Given the description of an element on the screen output the (x, y) to click on. 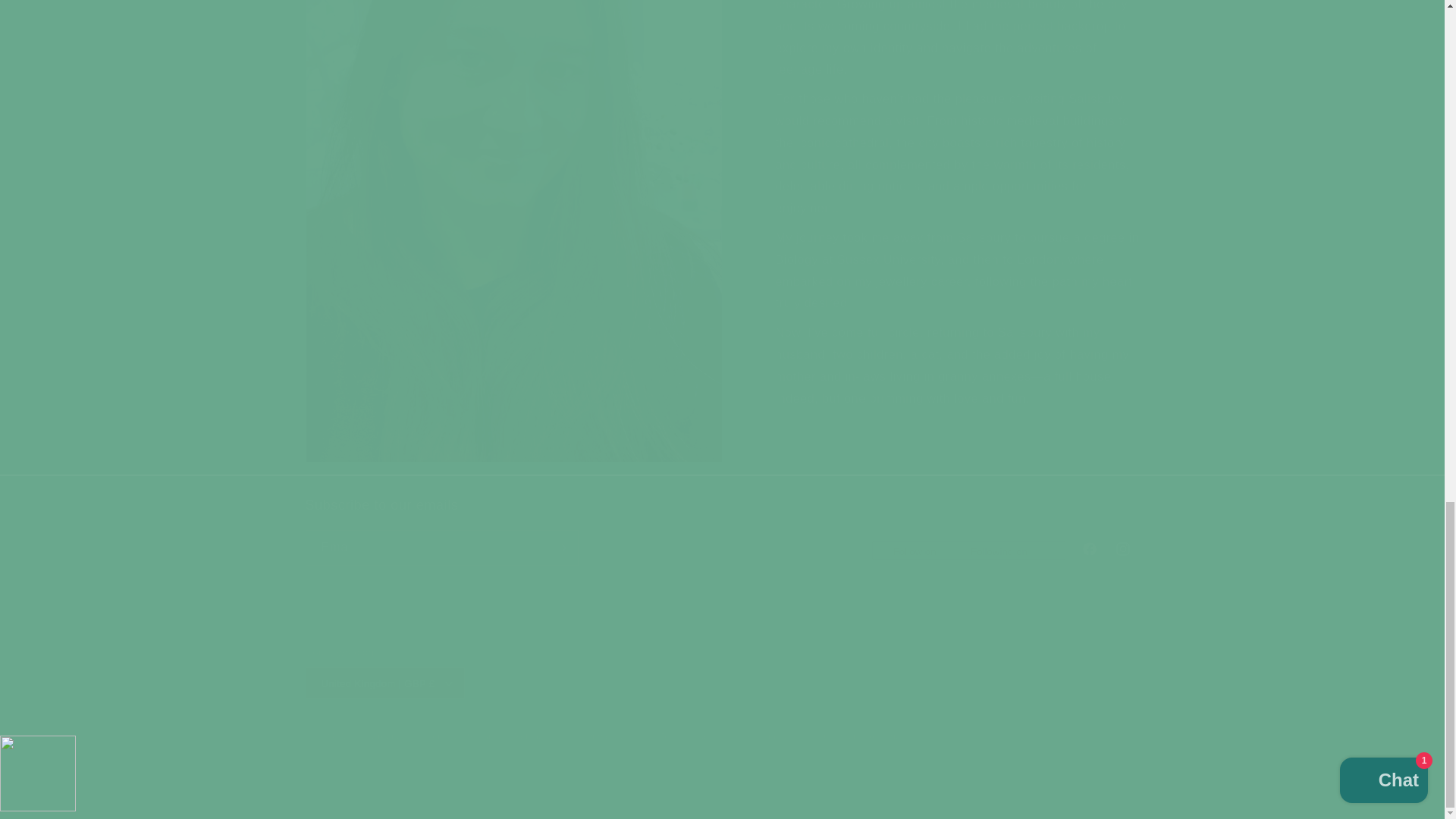
Powered by Shopify (455, 736)
Instagram (1121, 548)
Terms of service (694, 736)
Privacy policy (615, 736)
Shipping policy (776, 736)
Refund policy (721, 530)
Contact information (542, 736)
Mijoux Creations (864, 736)
Facebook (376, 736)
